Given the description of an element on the screen output the (x, y) to click on. 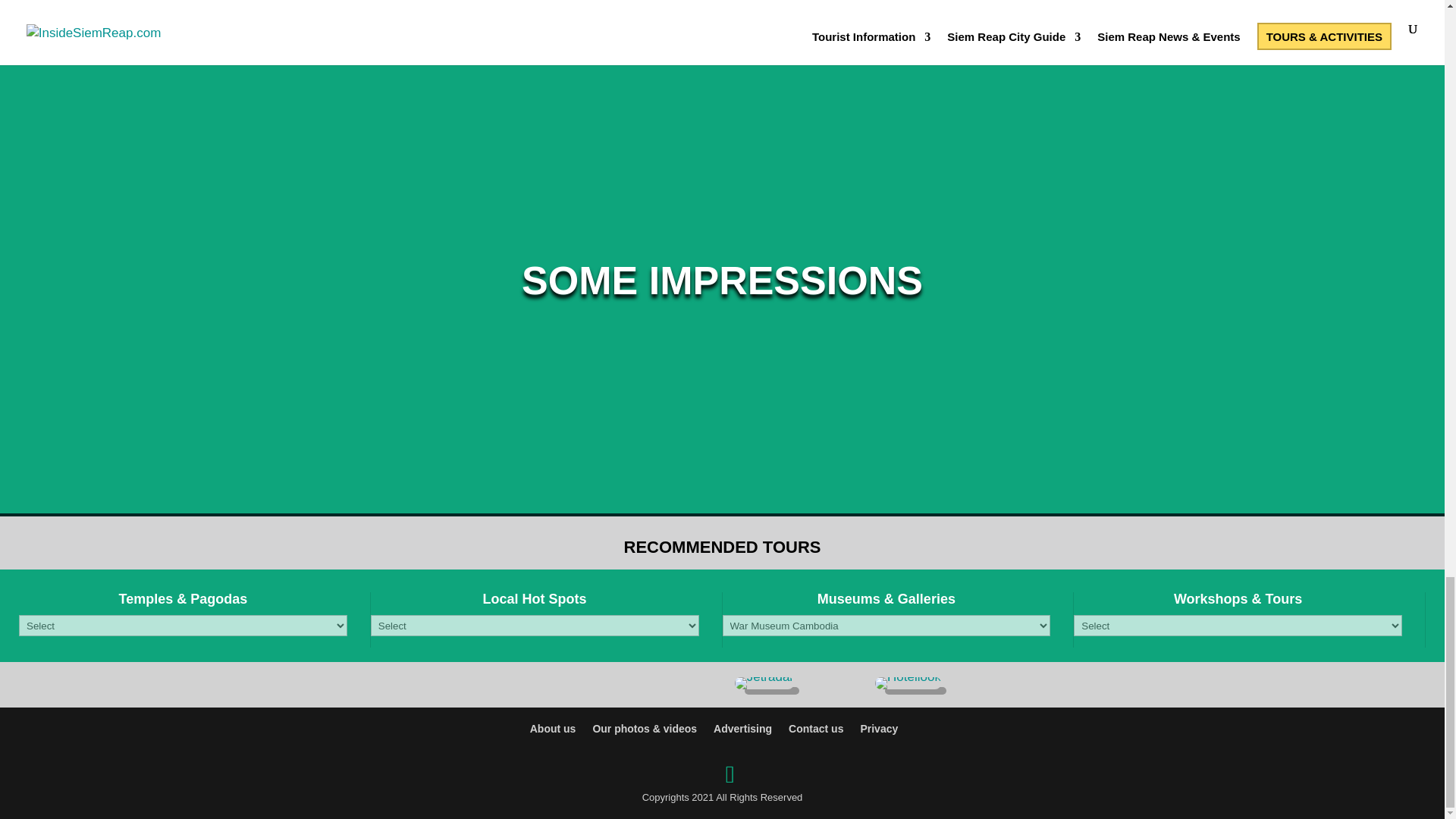
Contact us (816, 728)
About us (552, 728)
hotellook (907, 683)
Advertising (742, 728)
Website Cambodian War Museum (505, 6)
Privacy (879, 728)
jetradar (764, 683)
